Given the description of an element on the screen output the (x, y) to click on. 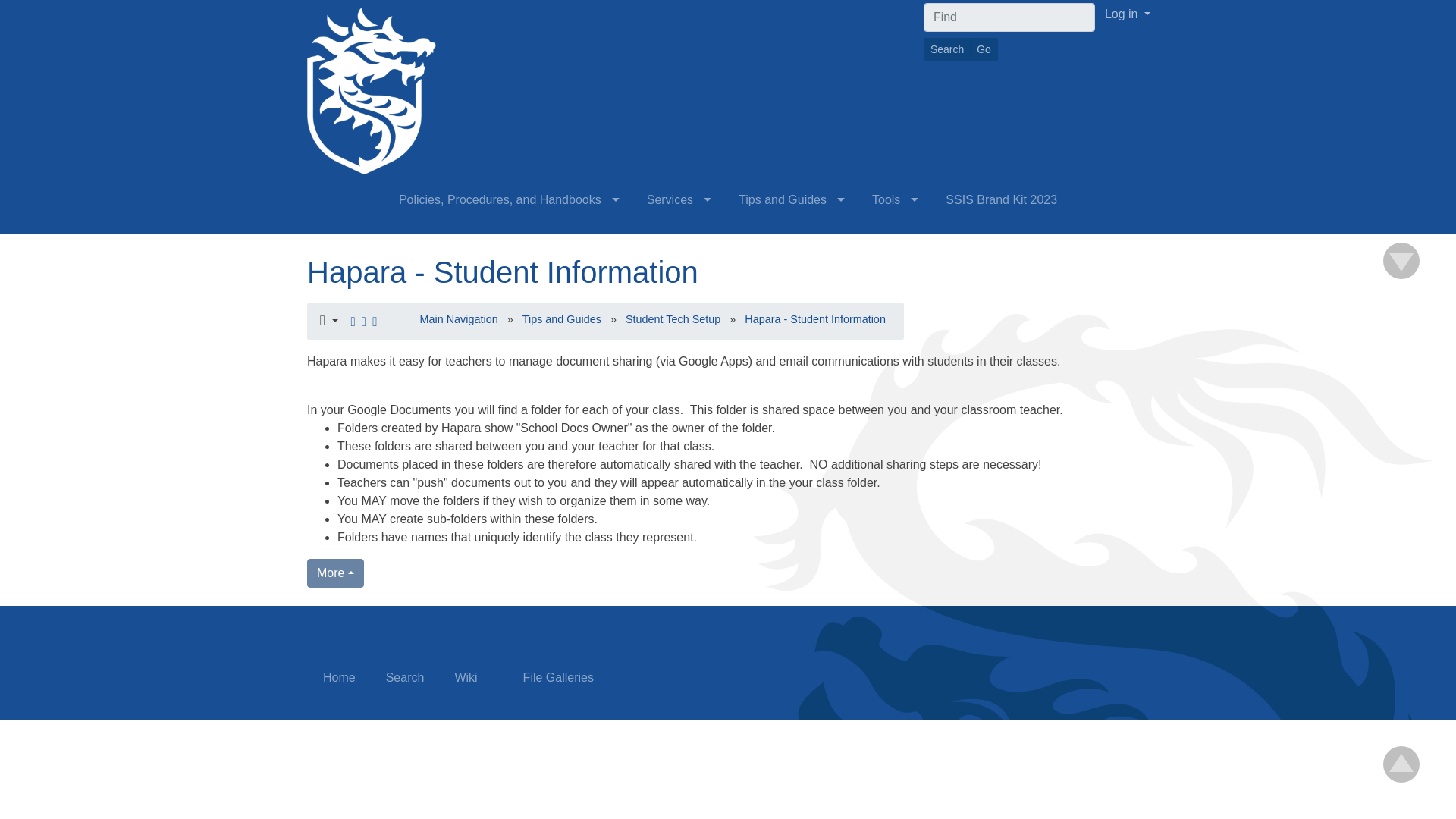
Go (983, 49)
Log in (1127, 14)
Go (983, 49)
SSIS Link (365, 91)
Search (947, 49)
Back To Top (1401, 260)
go back to this crumb (502, 272)
Policies, Procedures, and Handbooks (507, 199)
Services (677, 199)
Search (947, 49)
